Given the description of an element on the screen output the (x, y) to click on. 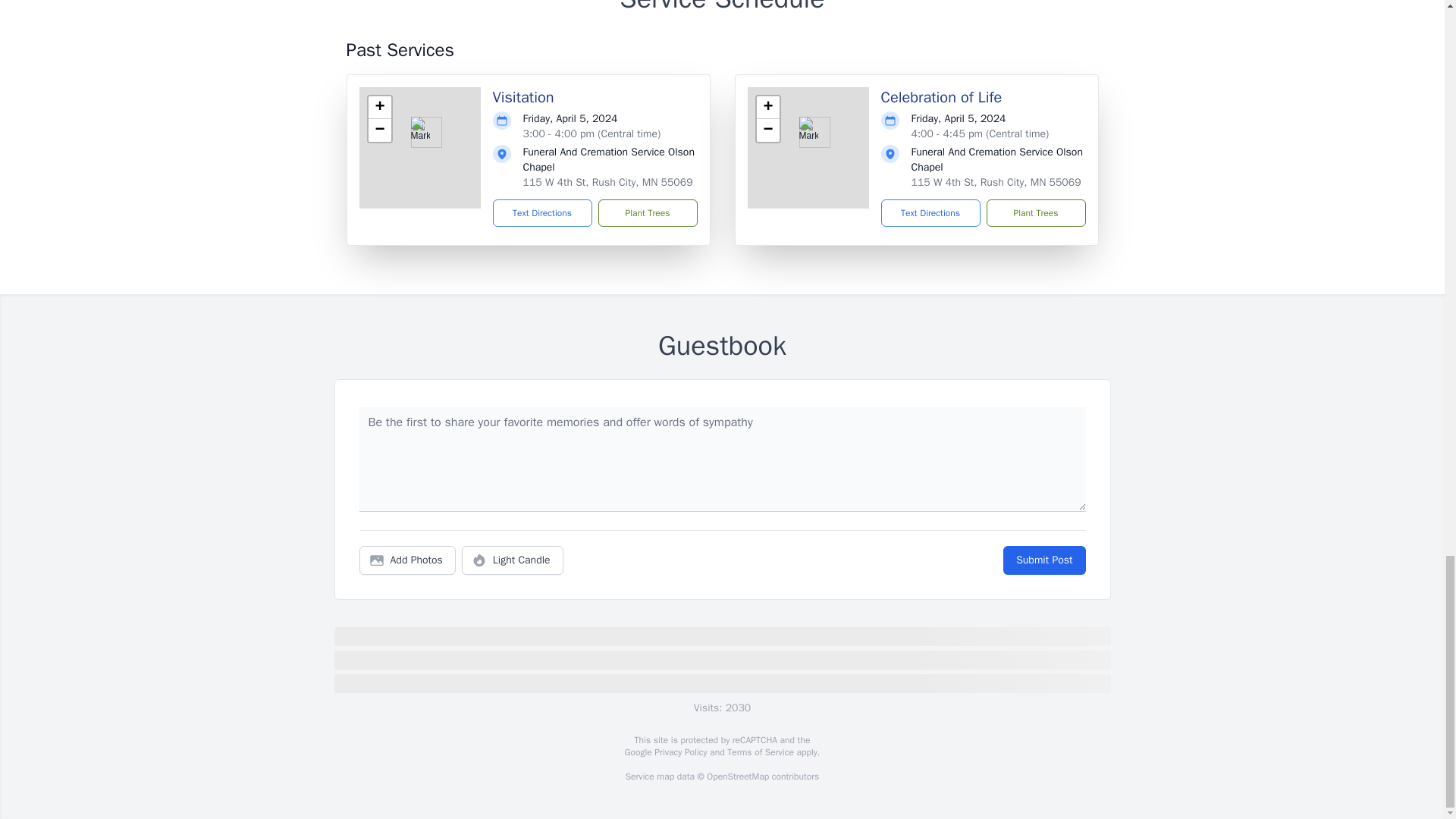
Zoom in (767, 107)
Add Photos (407, 560)
Privacy Policy (679, 752)
Terms of Service (759, 752)
115 W 4th St, Rush City, MN 55069 (607, 182)
Plant Trees (646, 212)
Text Directions (542, 212)
Text Directions (929, 212)
Zoom in (379, 107)
Submit Post (1043, 560)
Zoom out (767, 129)
Zoom out (379, 129)
115 W 4th St, Rush City, MN 55069 (996, 182)
Plant Trees (1034, 212)
Light Candle (512, 560)
